Given the description of an element on the screen output the (x, y) to click on. 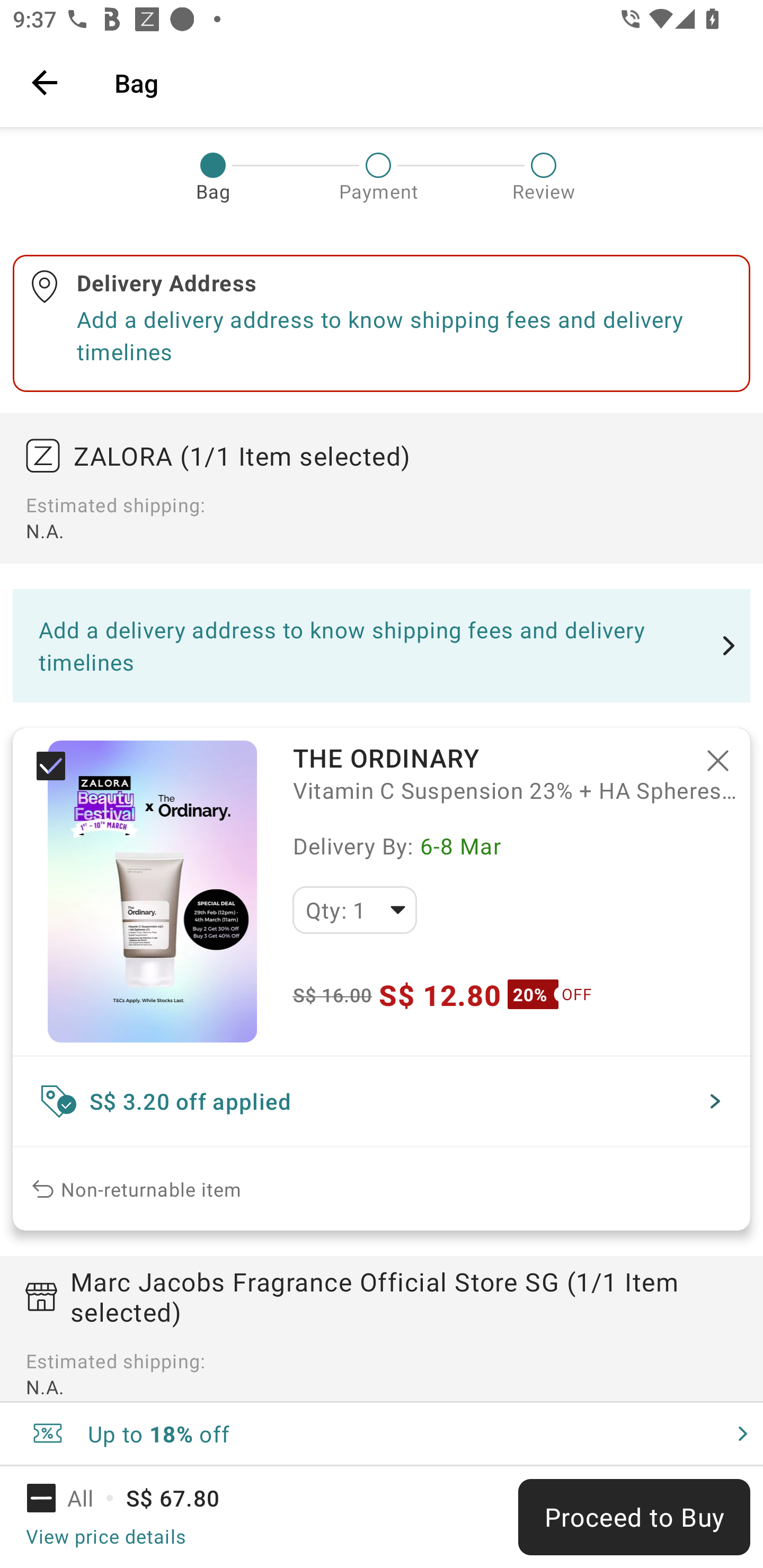
Navigate up (44, 82)
Bag (426, 82)
Qty: 1 (354, 909)
S$ 3.20 off applied (381, 1101)
Up to 18% off (381, 1433)
All (72, 1497)
Proceed to Buy (634, 1516)
View price details (105, 1535)
